Given the description of an element on the screen output the (x, y) to click on. 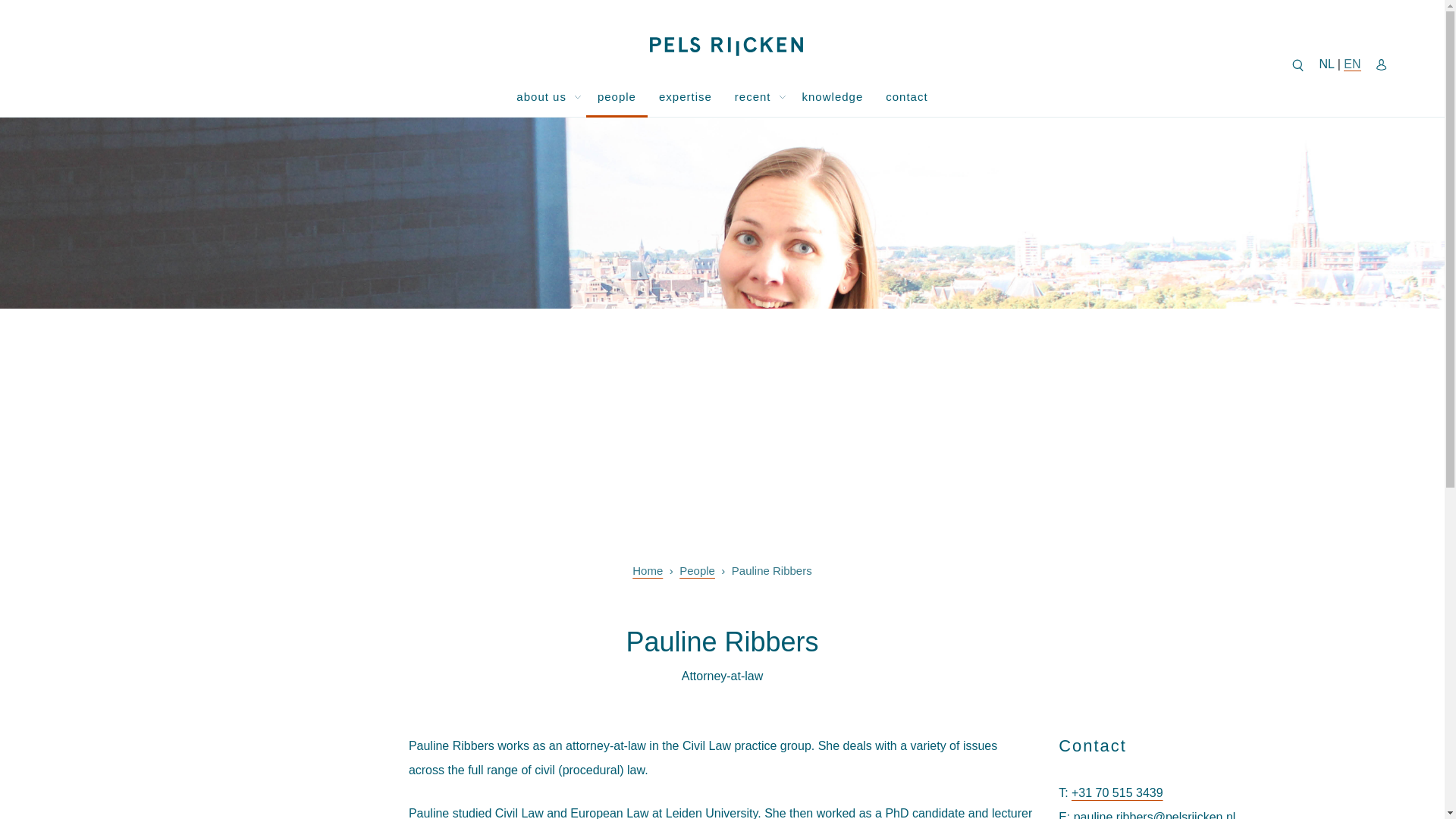
Email (1062, 814)
Home (646, 570)
People (696, 570)
people (616, 96)
EN (1351, 64)
about us (535, 96)
contact (907, 96)
recent (747, 96)
knowledge (832, 96)
NL (1326, 63)
expertise (685, 96)
